Given the description of an element on the screen output the (x, y) to click on. 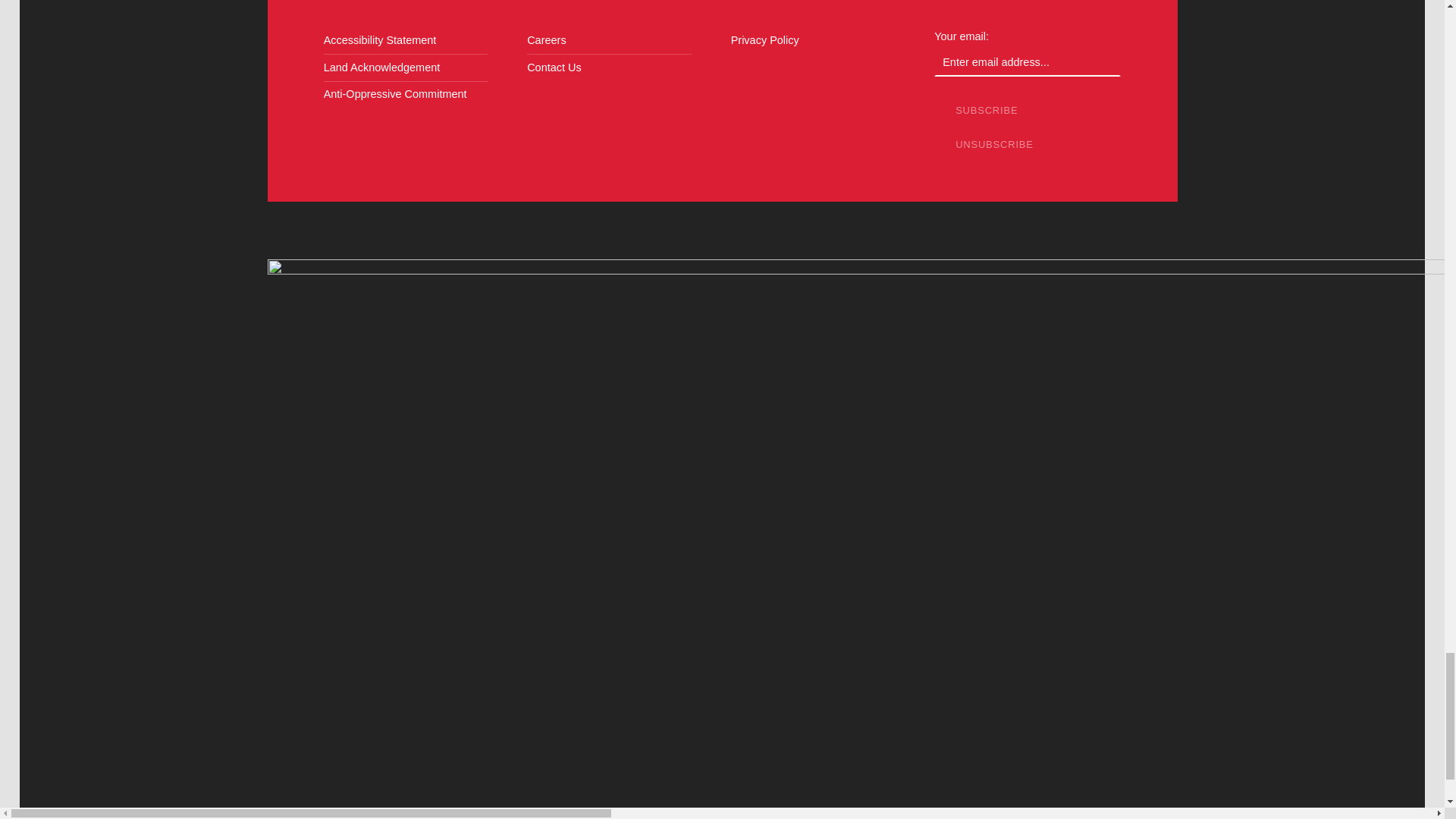
Enter email address... (1027, 61)
Unsubscribe (994, 144)
Subscribe (986, 110)
